Given the description of an element on the screen output the (x, y) to click on. 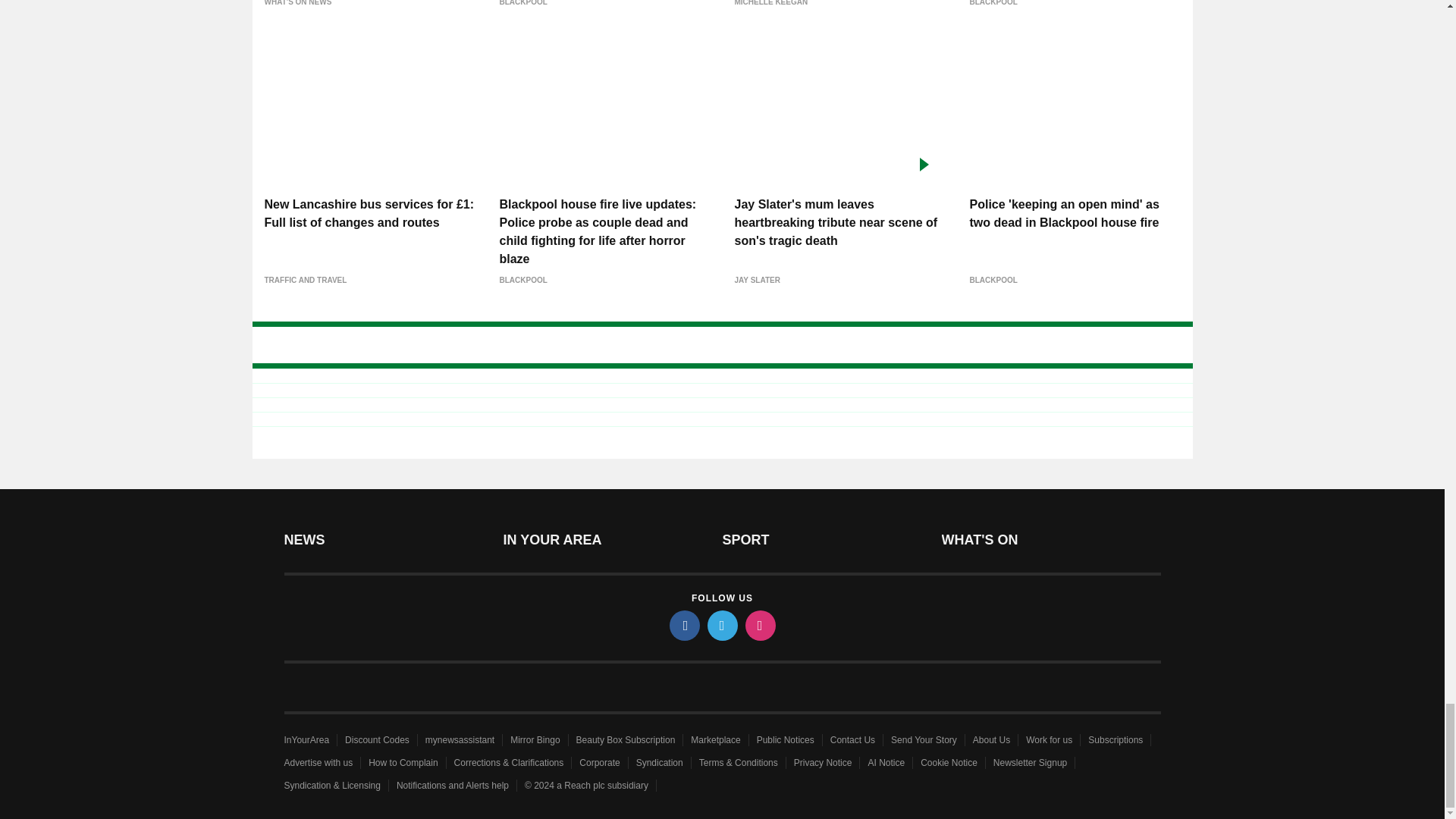
instagram (759, 625)
twitter (721, 625)
facebook (683, 625)
